Given the description of an element on the screen output the (x, y) to click on. 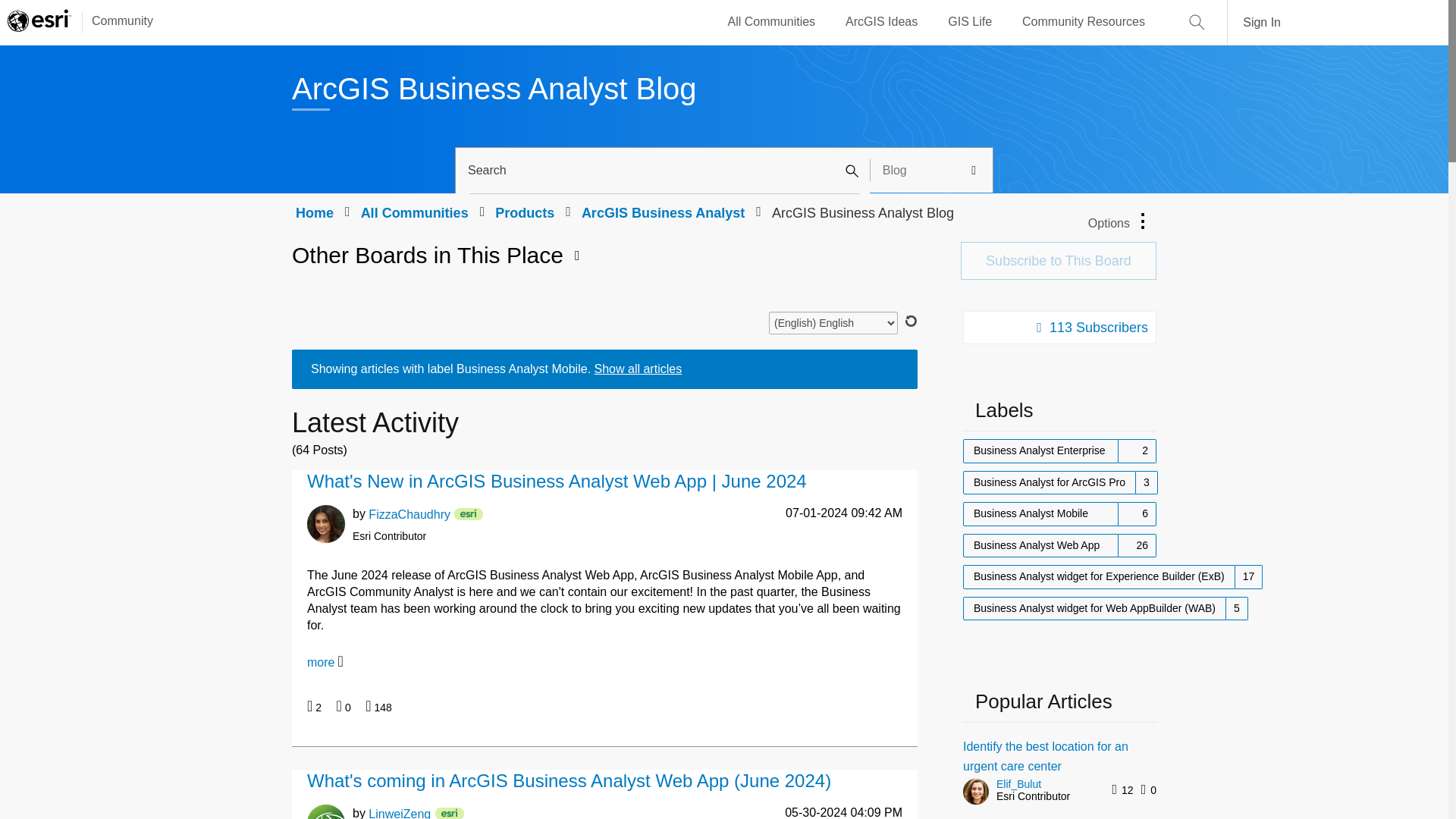
All Communities (772, 22)
Community (114, 22)
